Given the description of an element on the screen output the (x, y) to click on. 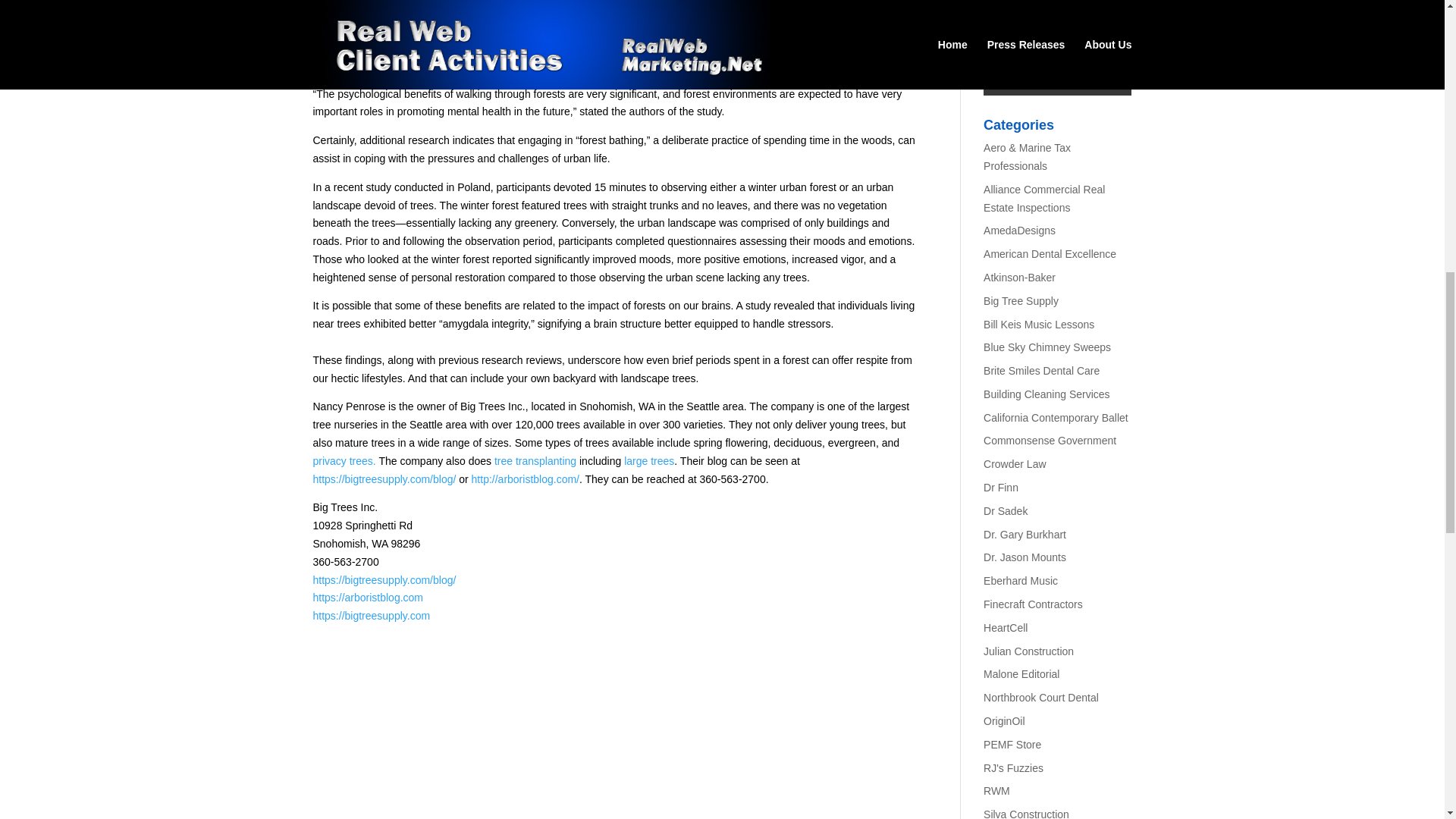
Crowder Law (1014, 463)
Dr. Jason Mounts (1024, 557)
AmedaDesigns (1019, 230)
Alliance Commercial Real Estate Inspections (1044, 198)
Building Cleaning Services (1046, 394)
Julian Construction (1029, 651)
HeartCell (1005, 627)
Privacy Policy (1088, 8)
American Dental Excellence (1050, 254)
AWeber Email Marketing (1057, 33)
